Given the description of an element on the screen output the (x, y) to click on. 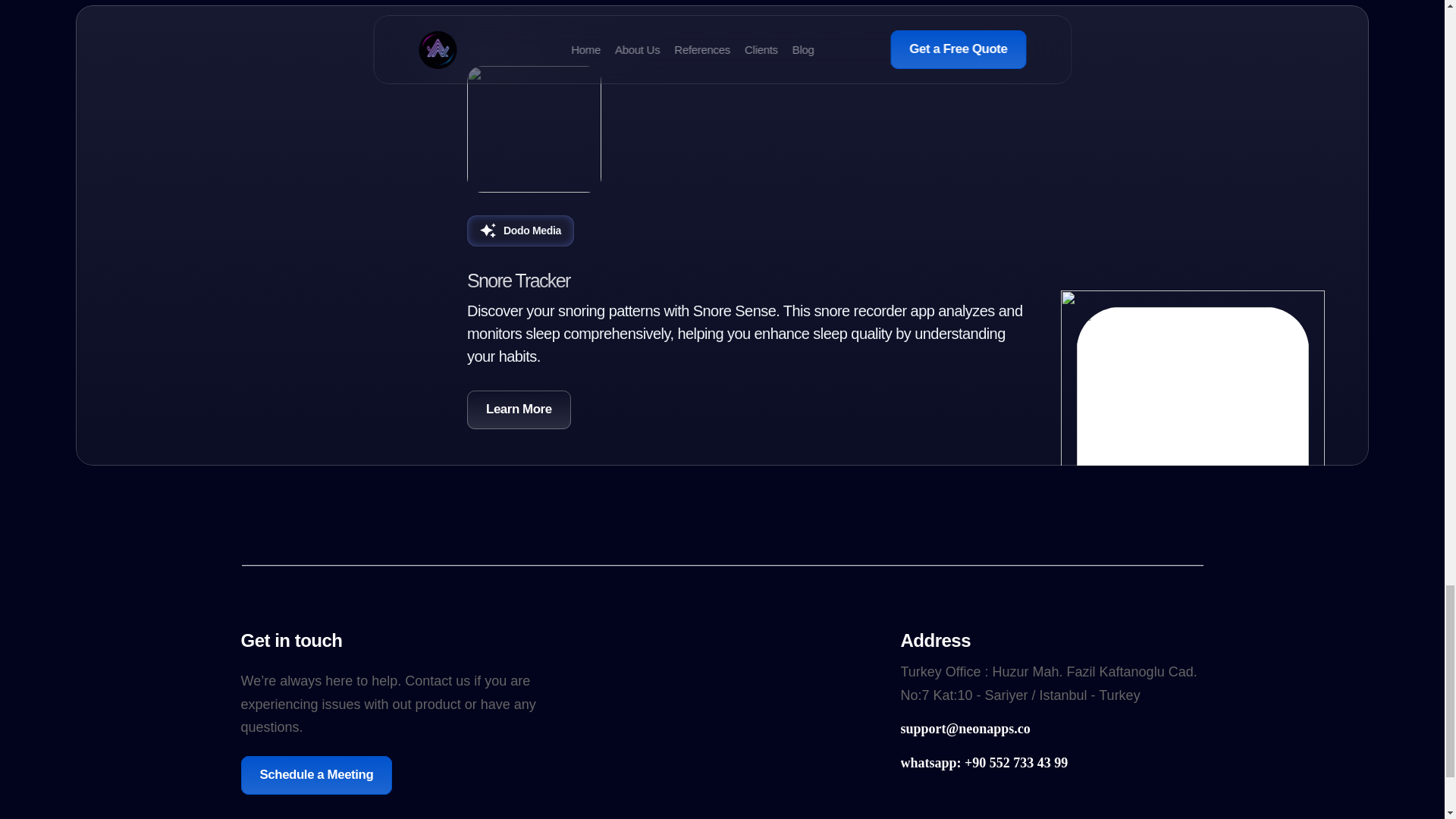
Learn More (518, 409)
Schedule a Meeting (317, 774)
